Given the description of an element on the screen output the (x, y) to click on. 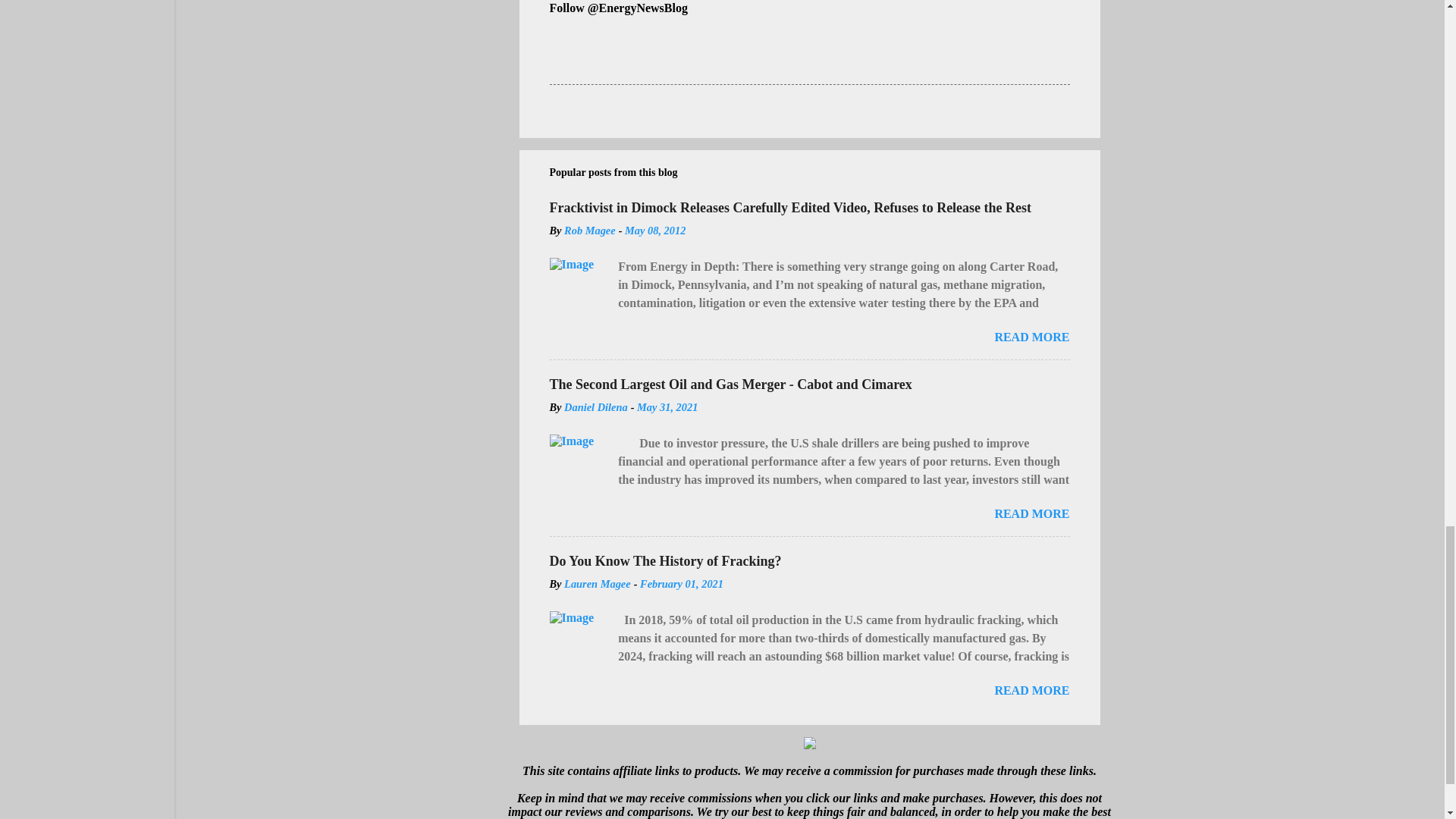
READ MORE (1031, 336)
Do You Know The History of Fracking? (664, 560)
Rob Magee (589, 230)
READ MORE (1031, 689)
February 01, 2021 (681, 583)
May 31, 2021 (667, 407)
Daniel Dilena (595, 407)
The Second Largest Oil and Gas Merger - Cabot and Cimarex (729, 384)
May 08, 2012 (654, 230)
